Given the description of an element on the screen output the (x, y) to click on. 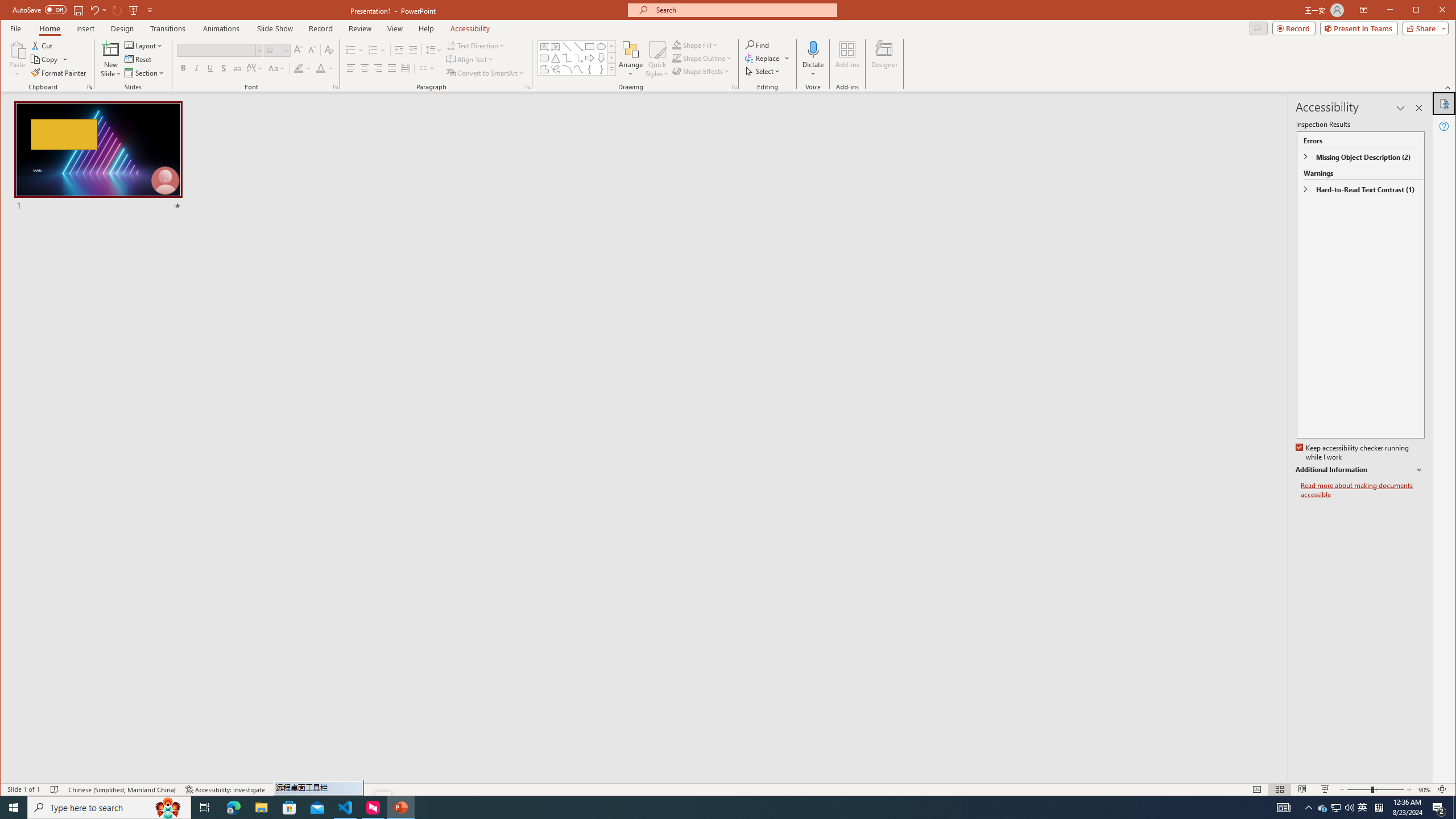
Left Brace (589, 69)
Save (77, 9)
Type here to search (108, 807)
Accessibility Checker Accessibility: Investigate (225, 789)
Freeform: Shape (544, 69)
Show desktop (1454, 807)
Text Highlight Color Yellow (298, 68)
Animations (221, 28)
Connector: Elbow Arrow (577, 57)
Bold (182, 68)
Additional Information (1360, 469)
Undo (98, 9)
Redo (117, 9)
Share (1422, 27)
Oval (601, 46)
